Given the description of an element on the screen output the (x, y) to click on. 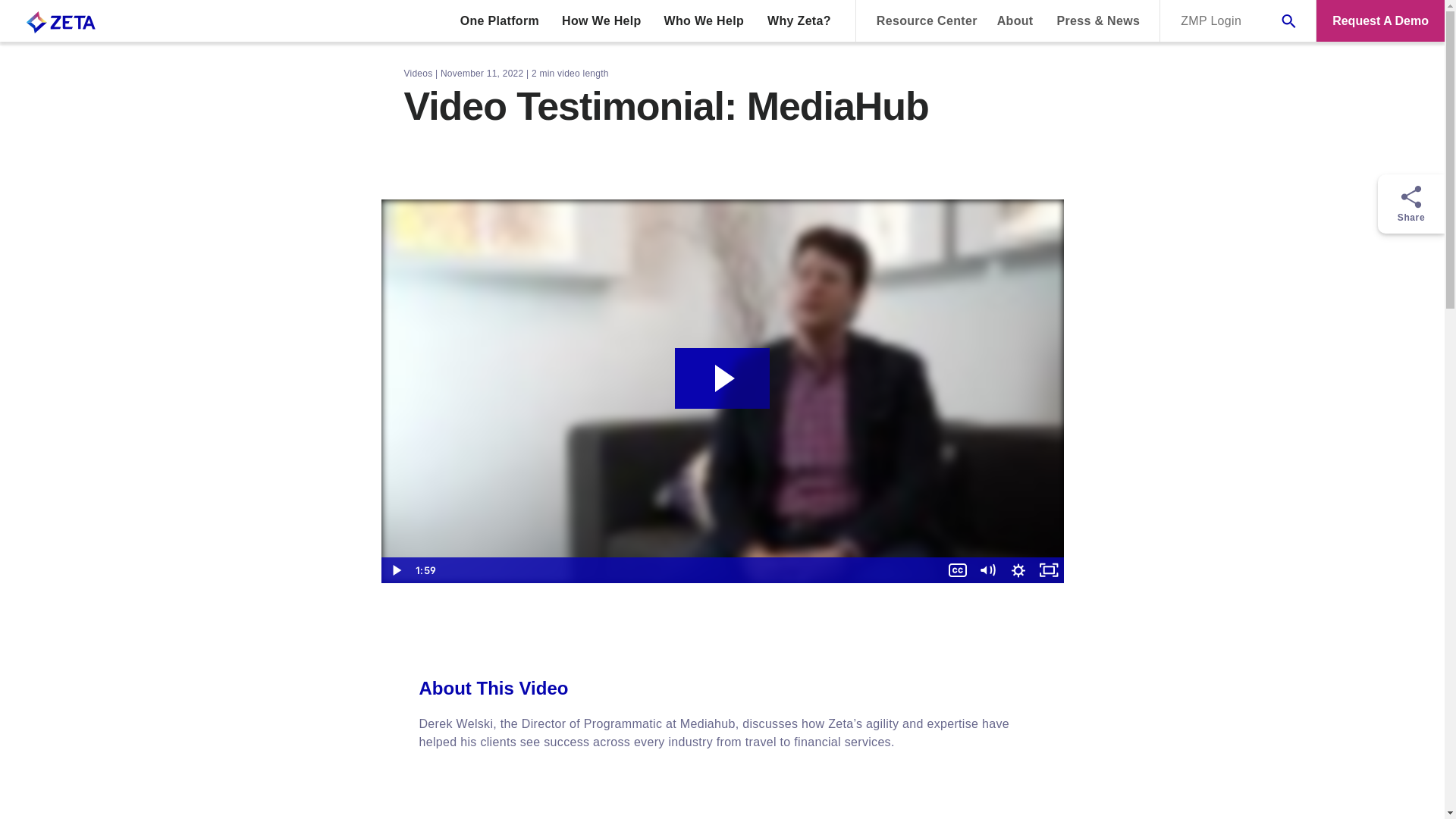
Fullscreen (1047, 570)
Show captions menu (957, 570)
Mute (987, 570)
Play Video (395, 570)
Resource Center (927, 20)
Why Zeta? (799, 20)
Show settings menu (1017, 570)
